Given the description of an element on the screen output the (x, y) to click on. 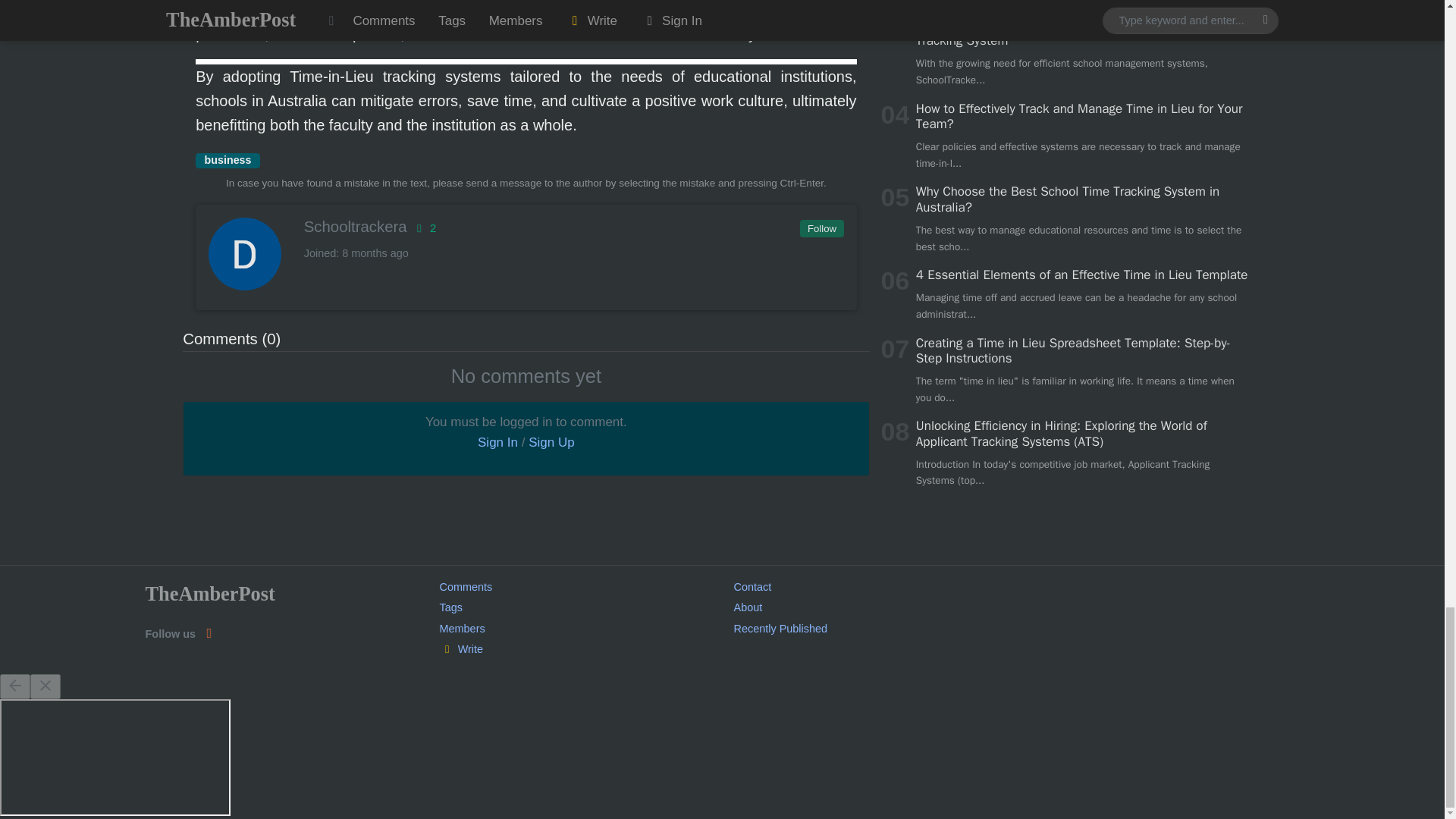
Schooltrackera 2 (525, 226)
business (227, 160)
Sign In (497, 441)
Rating (422, 227)
business (227, 160)
Follow (821, 229)
Sign Up (550, 441)
